Given the description of an element on the screen output the (x, y) to click on. 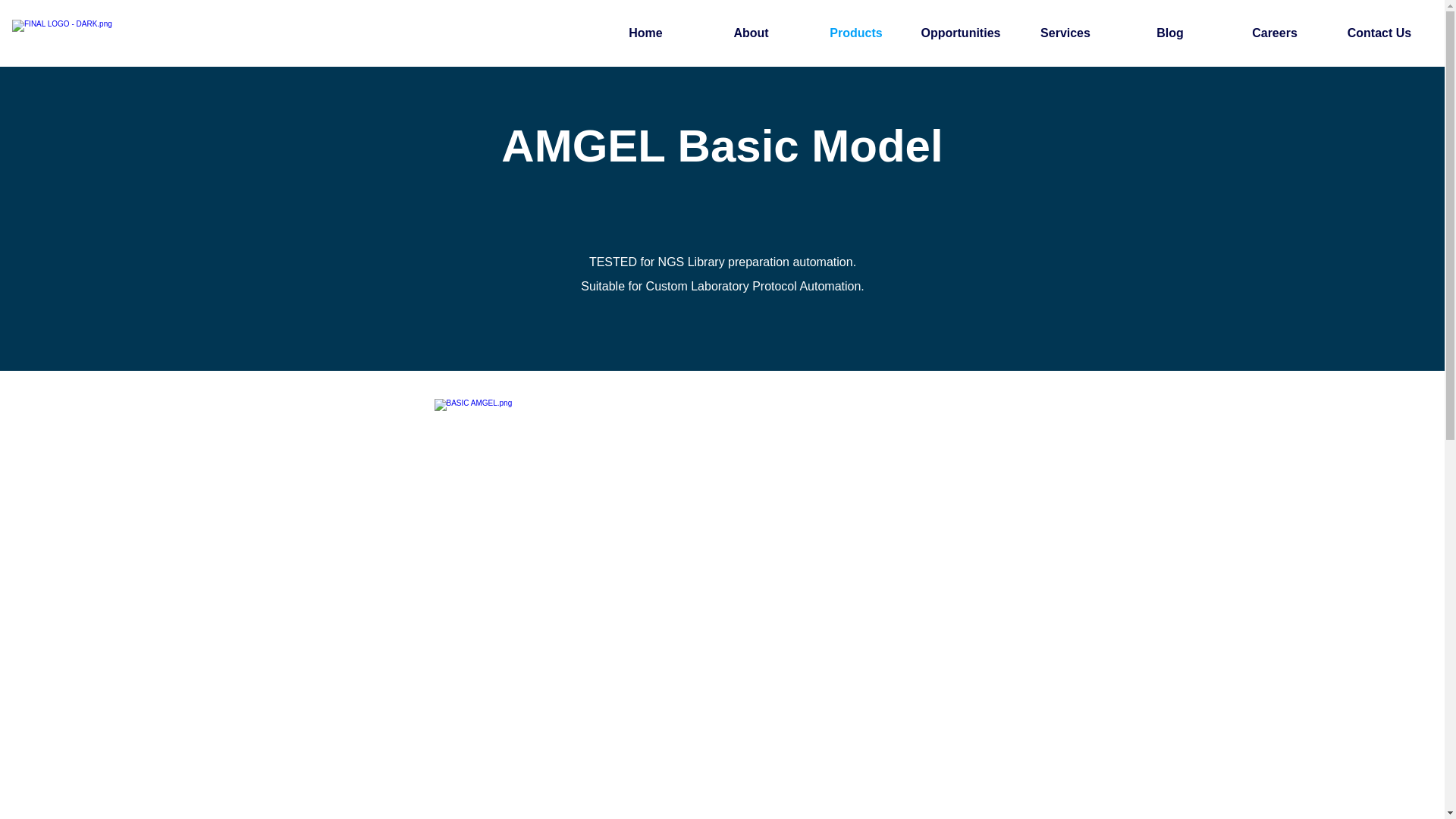
Opportunities (960, 33)
Blog (1170, 33)
Services (1065, 33)
Contact Us (1378, 33)
Products (855, 33)
Home (645, 33)
About (750, 33)
Careers (1274, 33)
